Given the description of an element on the screen output the (x, y) to click on. 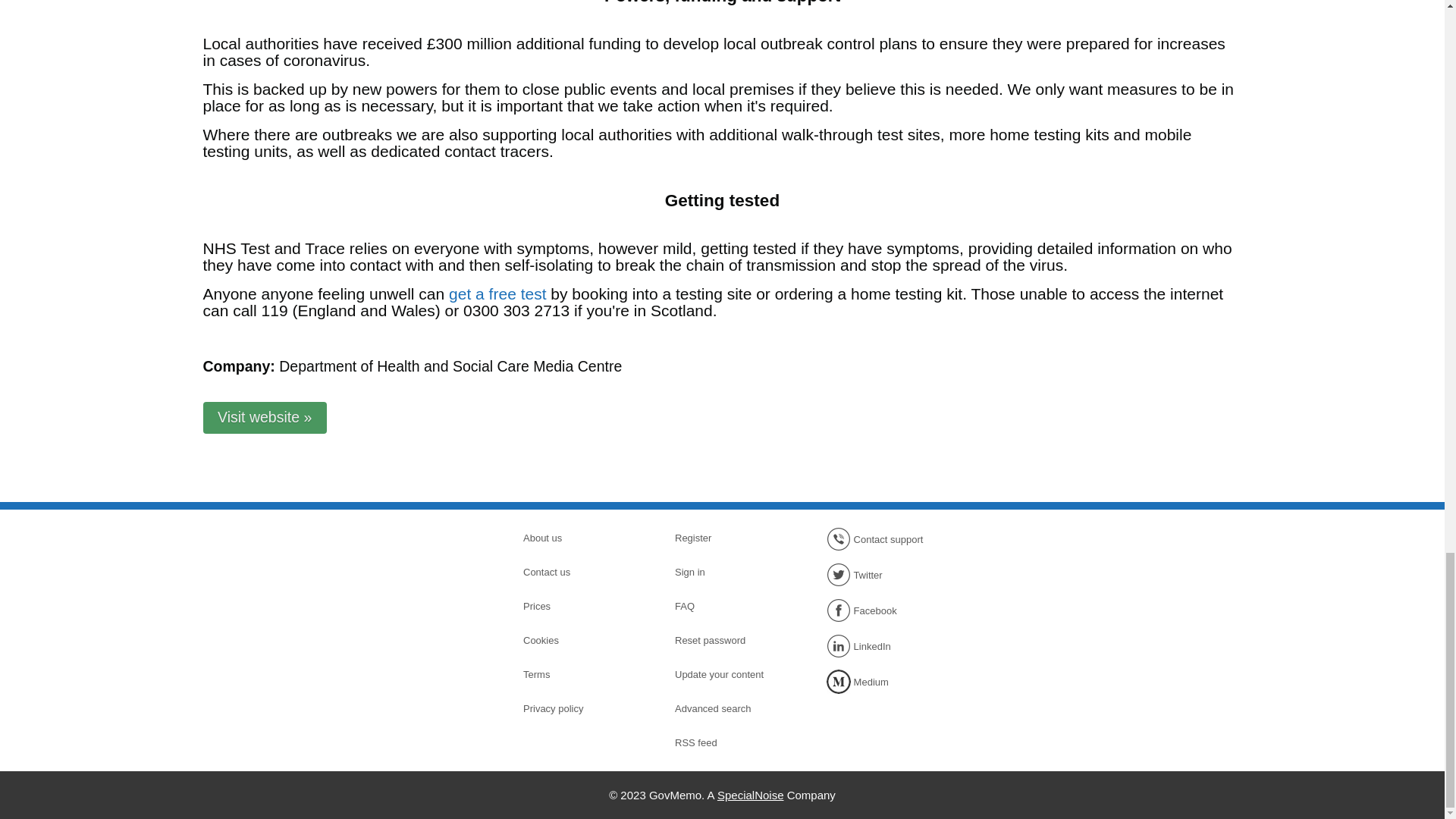
Prices (575, 605)
Contact support (880, 538)
Twitter (880, 574)
Update your content (727, 673)
About us (575, 537)
FAQ (727, 605)
RSS feed (727, 742)
Cookies (575, 640)
Contact us (575, 572)
Advanced search (727, 708)
